Given the description of an element on the screen output the (x, y) to click on. 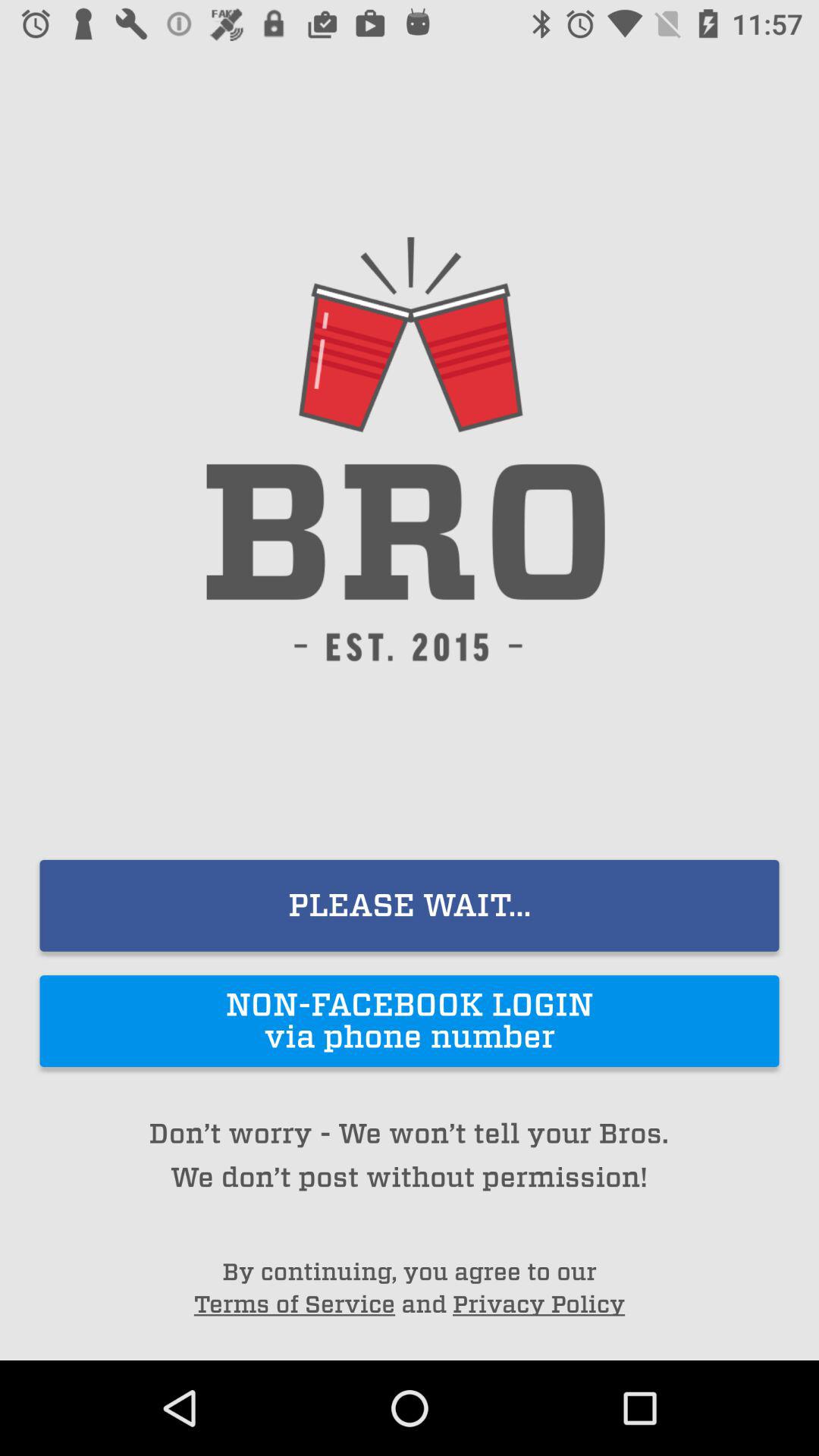
turn off the item below by continuing you item (294, 1304)
